Given the description of an element on the screen output the (x, y) to click on. 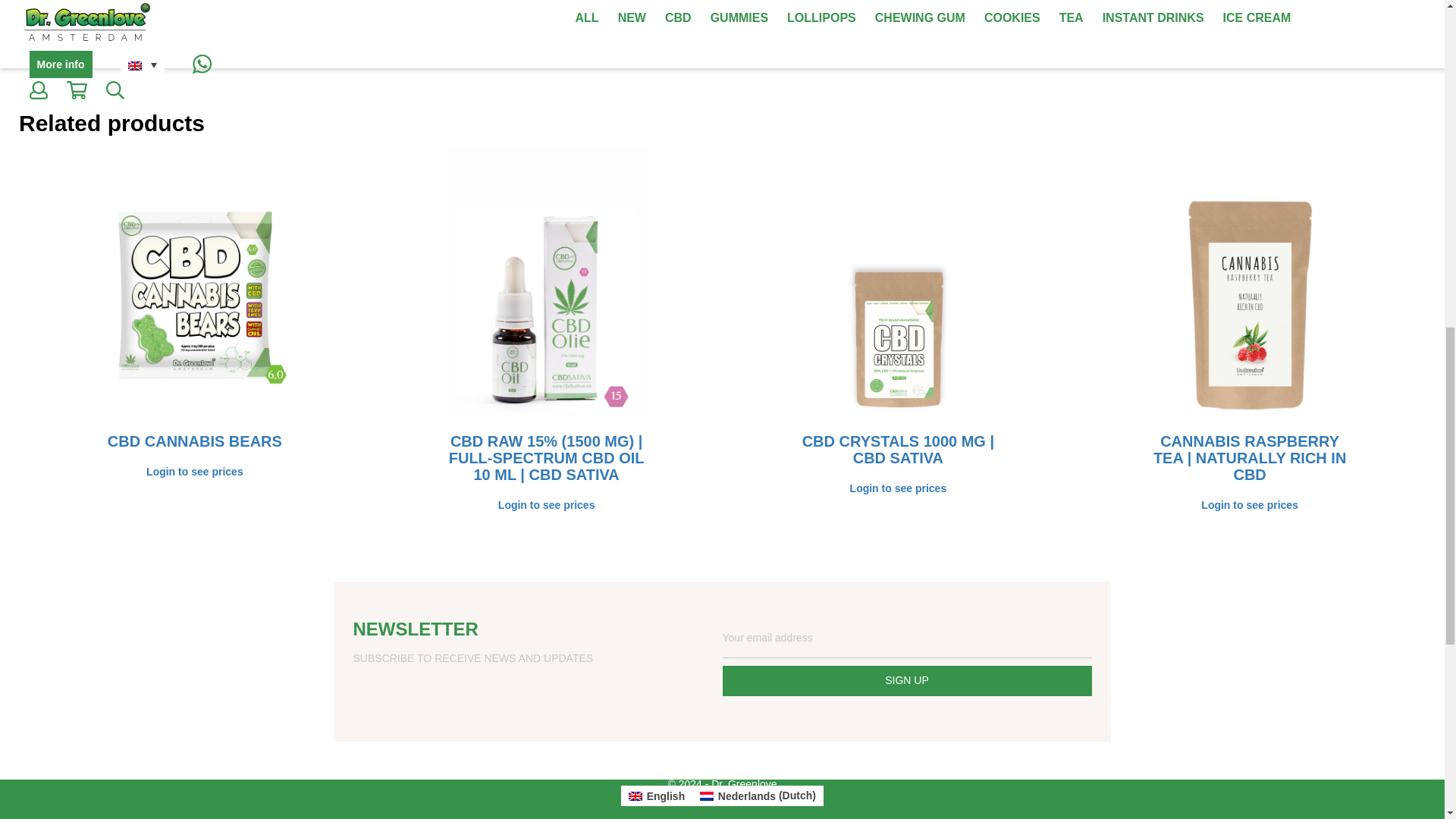
Sign up (906, 680)
Login to see prices (193, 472)
Login to see prices (546, 505)
Login to see prices (897, 488)
